Given the description of an element on the screen output the (x, y) to click on. 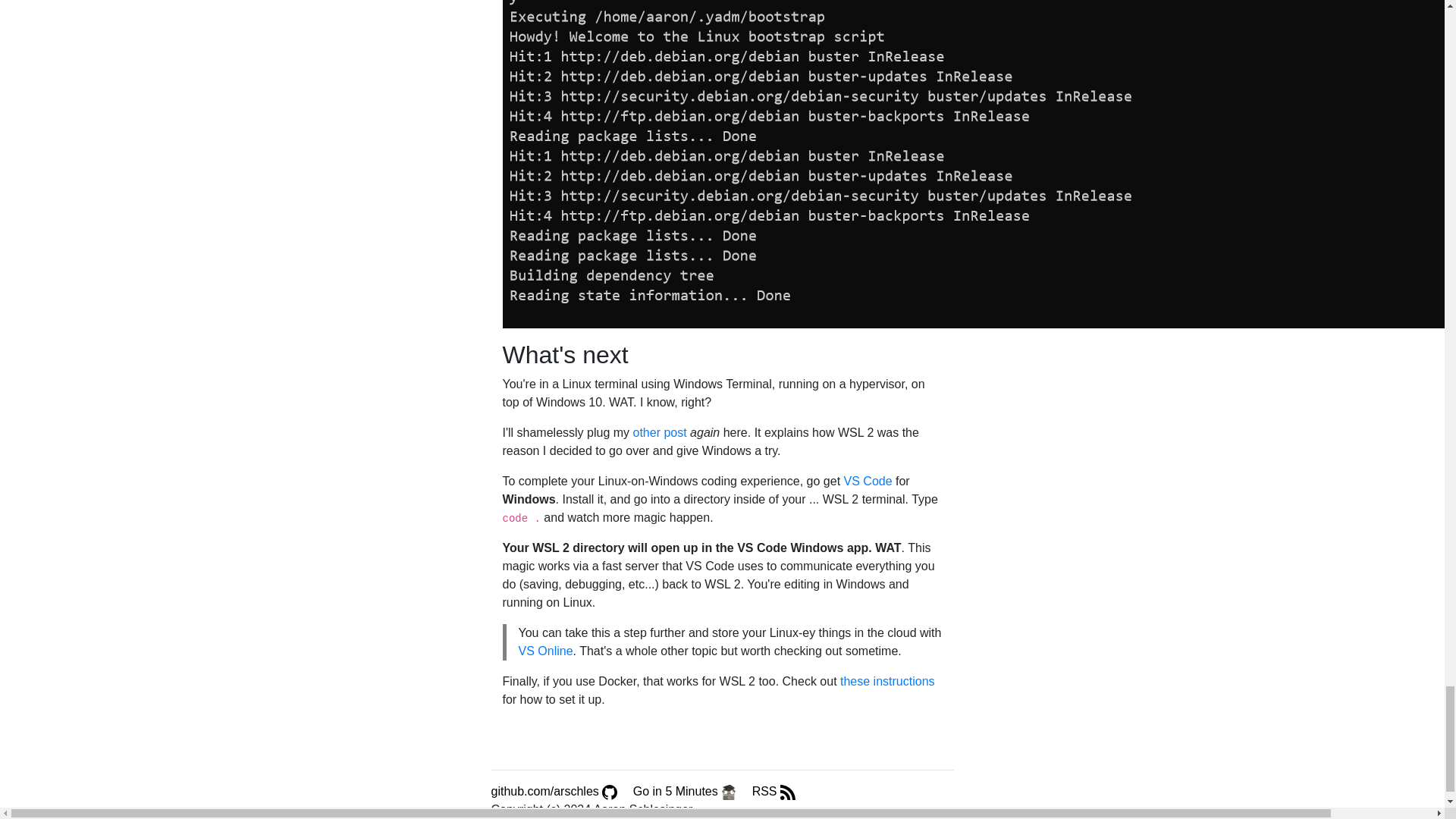
VS Online (545, 650)
other post (658, 431)
these instructions (887, 680)
VS Code (868, 481)
RSS (773, 790)
Go in 5 Minutes (686, 790)
